Given the description of an element on the screen output the (x, y) to click on. 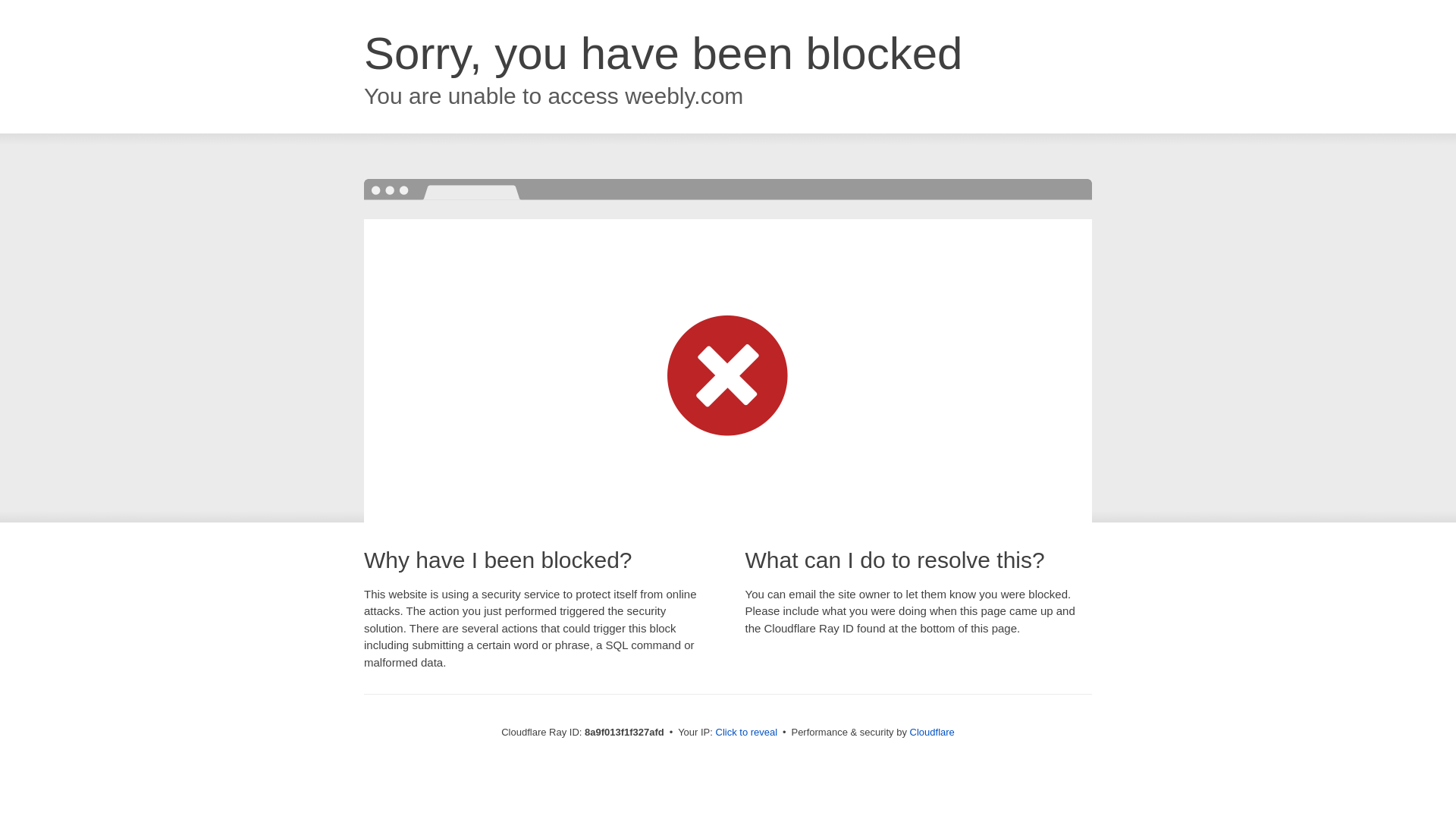
Click to reveal (746, 732)
Cloudflare (932, 731)
